Given the description of an element on the screen output the (x, y) to click on. 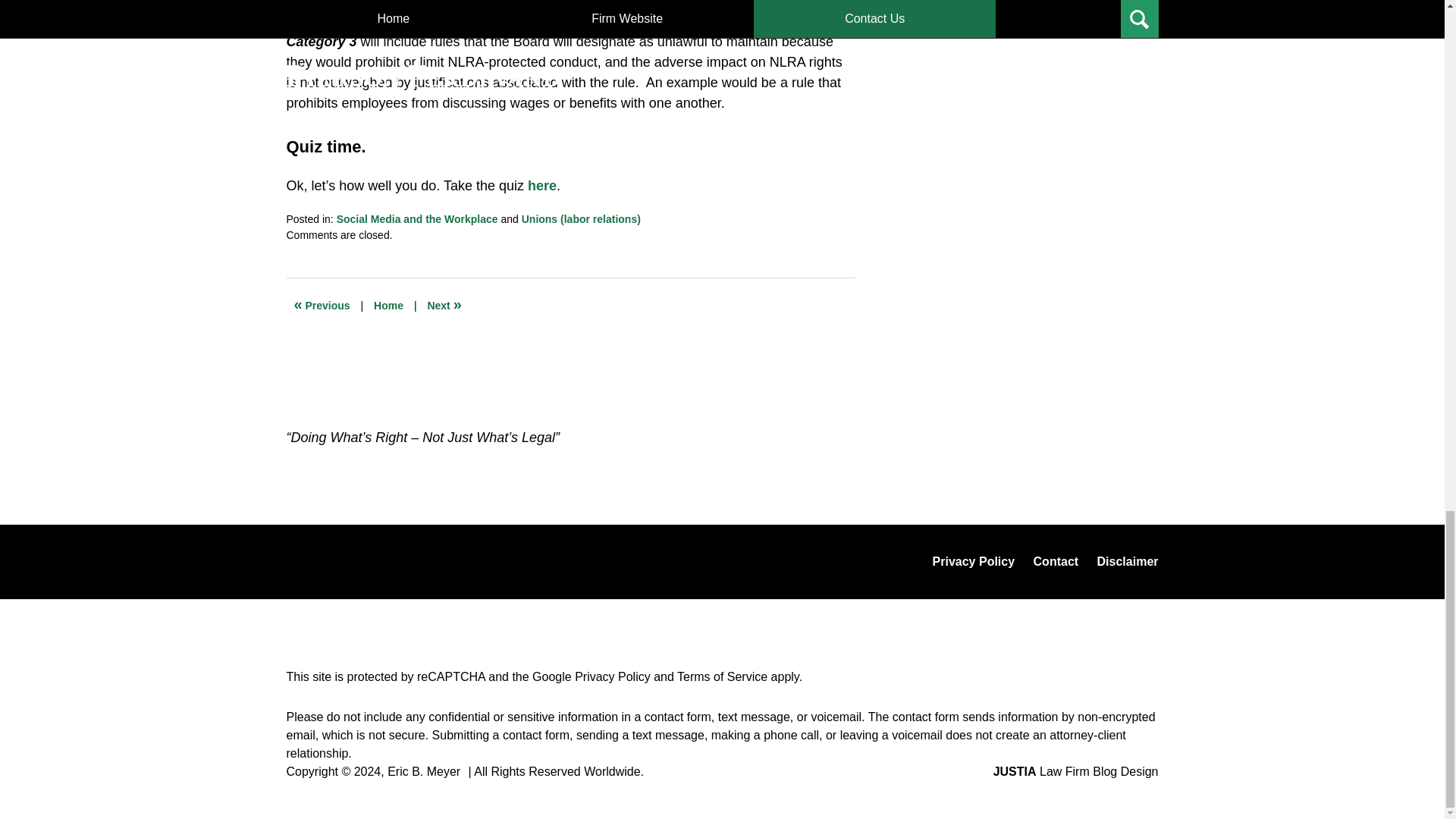
Contact (1056, 561)
JUSTIA Law Firm Blog Design (1075, 771)
Privacy Policy (612, 676)
View all posts in Social Media and the Workplace (416, 218)
Home (388, 305)
here (541, 185)
Eric B. Meyer (423, 771)
Terms of Service (722, 676)
Privacy Policy (973, 561)
Disclaimer (1127, 561)
Social Media and the Workplace (416, 218)
